Given the description of an element on the screen output the (x, y) to click on. 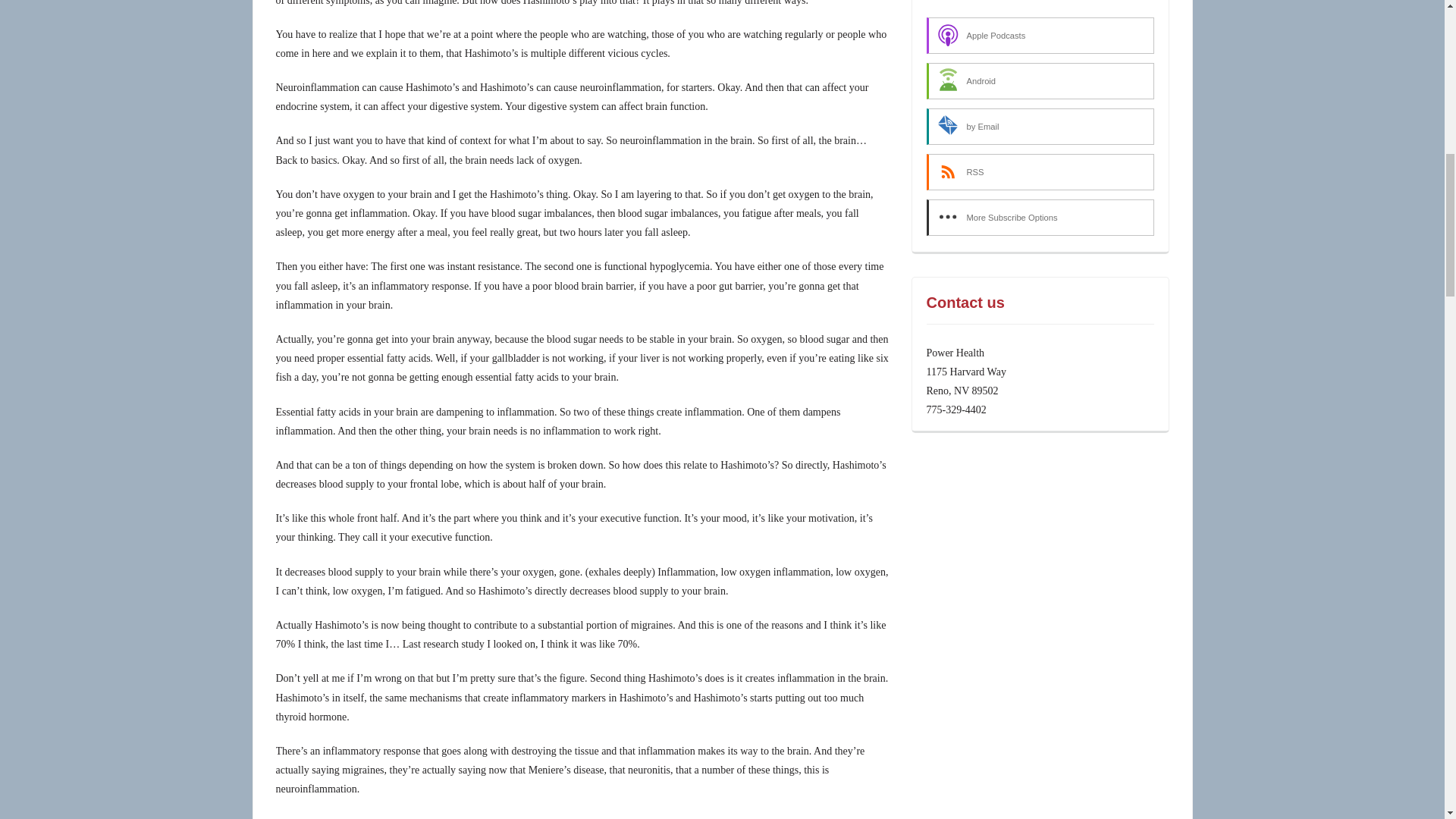
More Subscribe Options (1040, 217)
Subscribe on Apple Podcasts (1040, 35)
Subscribe via RSS (1040, 171)
Android (1040, 81)
Subscribe by Email (1040, 126)
Subscribe on Android (1040, 81)
by Email (1040, 126)
More Subscribe Options (1040, 217)
Apple Podcasts (1040, 35)
RSS (1040, 171)
